Given the description of an element on the screen output the (x, y) to click on. 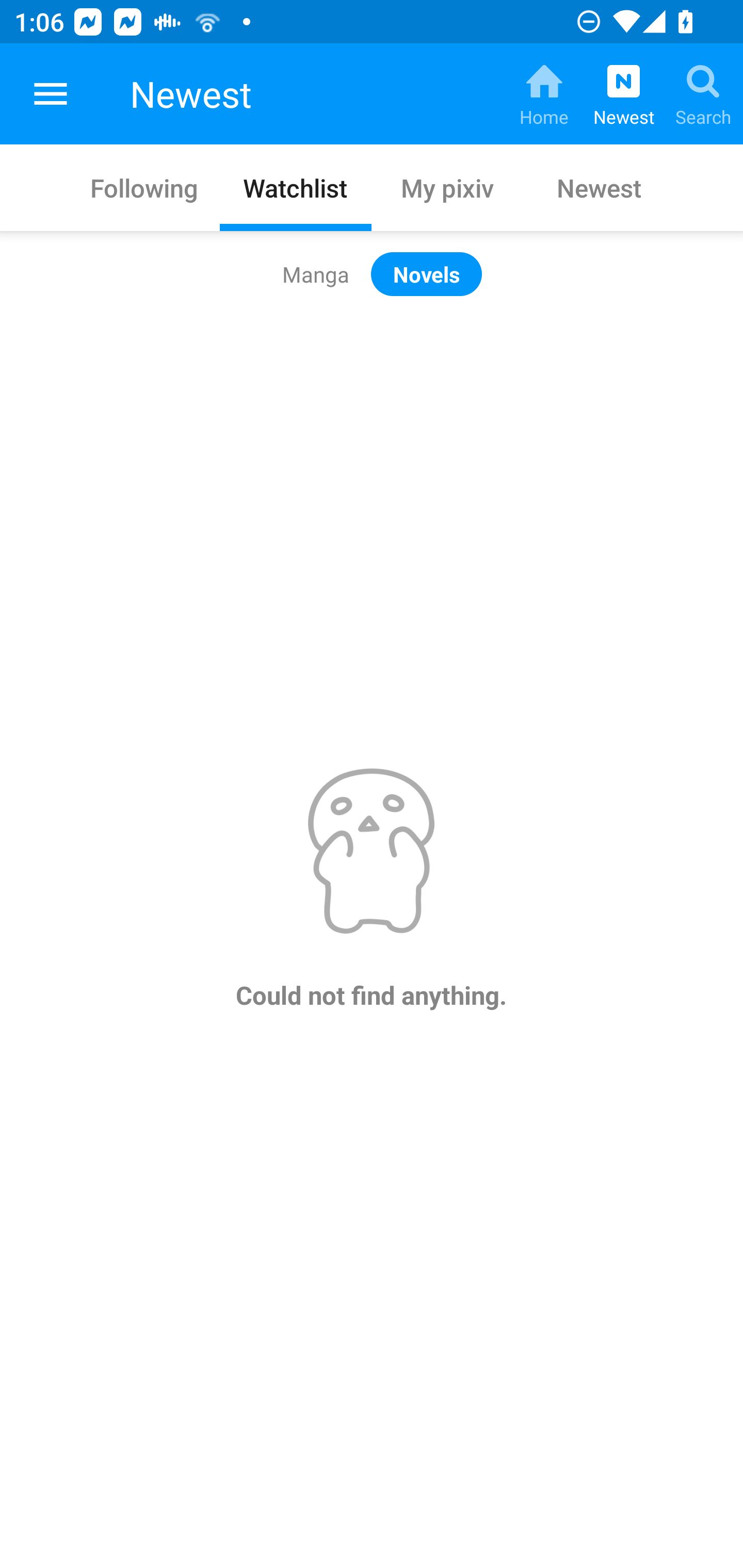
pixiv (50, 93)
Home (543, 93)
Search (703, 93)
Following (143, 187)
My pixiv (447, 187)
Newest (598, 187)
Manga (315, 274)
Novels (426, 274)
